Given the description of an element on the screen output the (x, y) to click on. 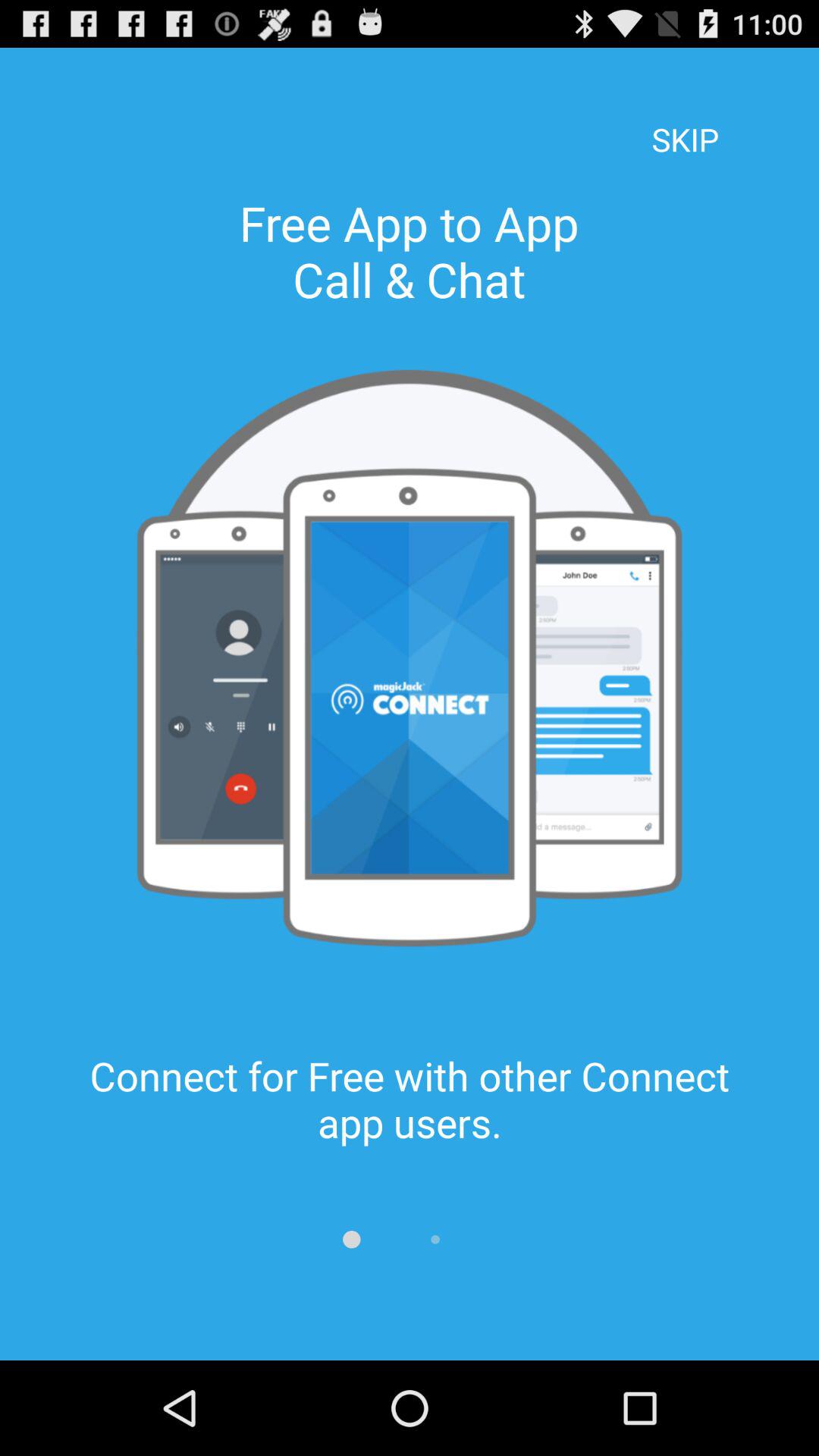
press the icon below the connect for free (351, 1239)
